Given the description of an element on the screen output the (x, y) to click on. 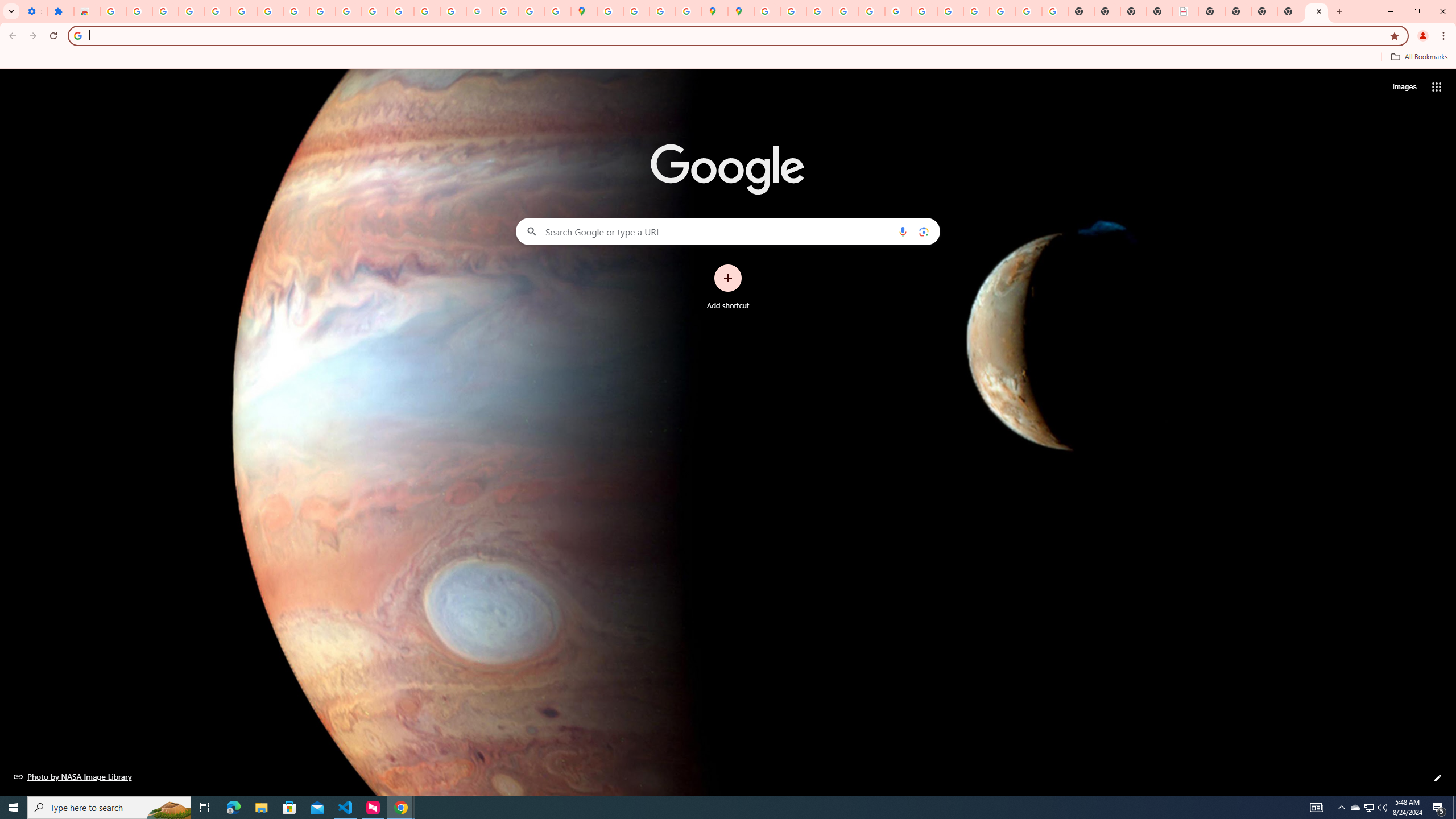
Sign in - Google Accounts (112, 11)
YouTube (322, 11)
Privacy Help Center - Policies Help (818, 11)
Sign in - Google Accounts (243, 11)
